Given the description of an element on the screen output the (x, y) to click on. 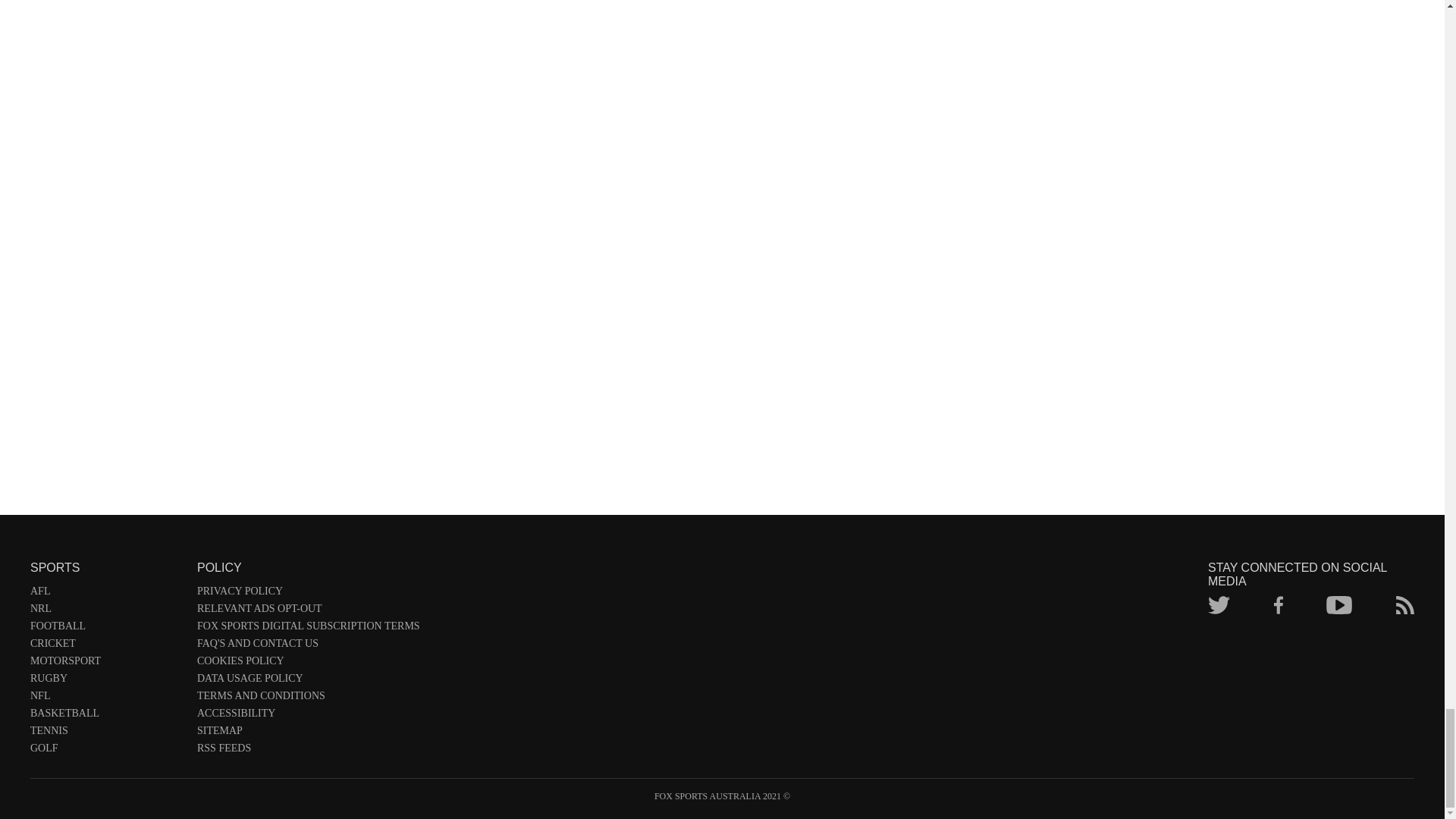
NRL (106, 610)
FOOTBALL (106, 628)
AFL (106, 593)
DATA USAGE POLICY (308, 681)
MOTORSPORT (106, 663)
TERMS AND CONDITIONS (308, 698)
FOX SPORTS DIGITAL SUBSCRIPTION TERMS (308, 628)
COOKIES POLICY (308, 663)
BASKETBALL (106, 715)
NFL (106, 698)
